Given the description of an element on the screen output the (x, y) to click on. 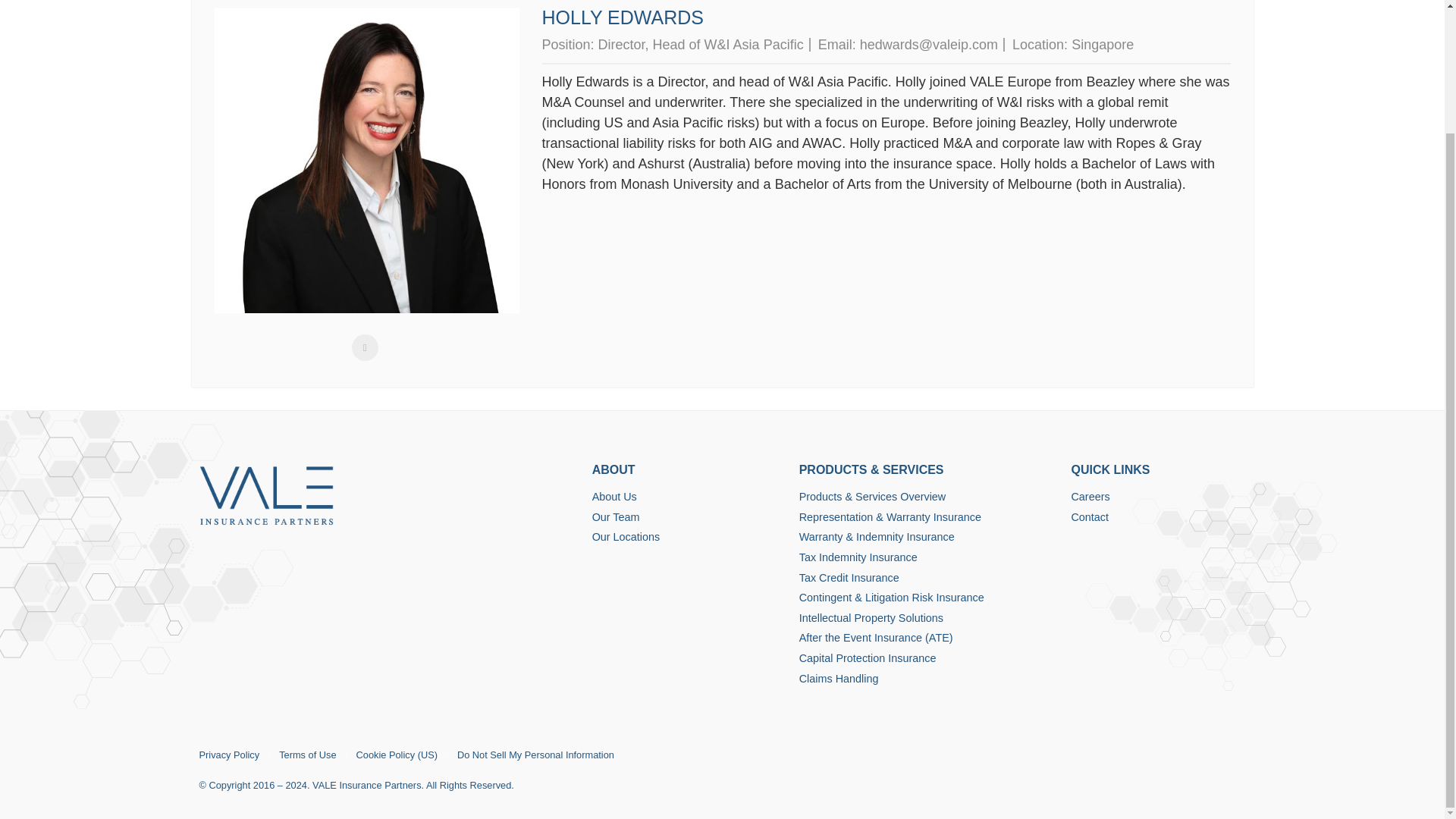
About Us (688, 497)
Tax Indemnity Insurance (928, 557)
Claims Handling (928, 678)
Our Team (688, 517)
Careers (1157, 497)
Capital Protection Insurance (928, 658)
Our Locations (688, 537)
Tax Credit Insurance (928, 578)
Intellectual Property Solutions (928, 618)
